Given the description of an element on the screen output the (x, y) to click on. 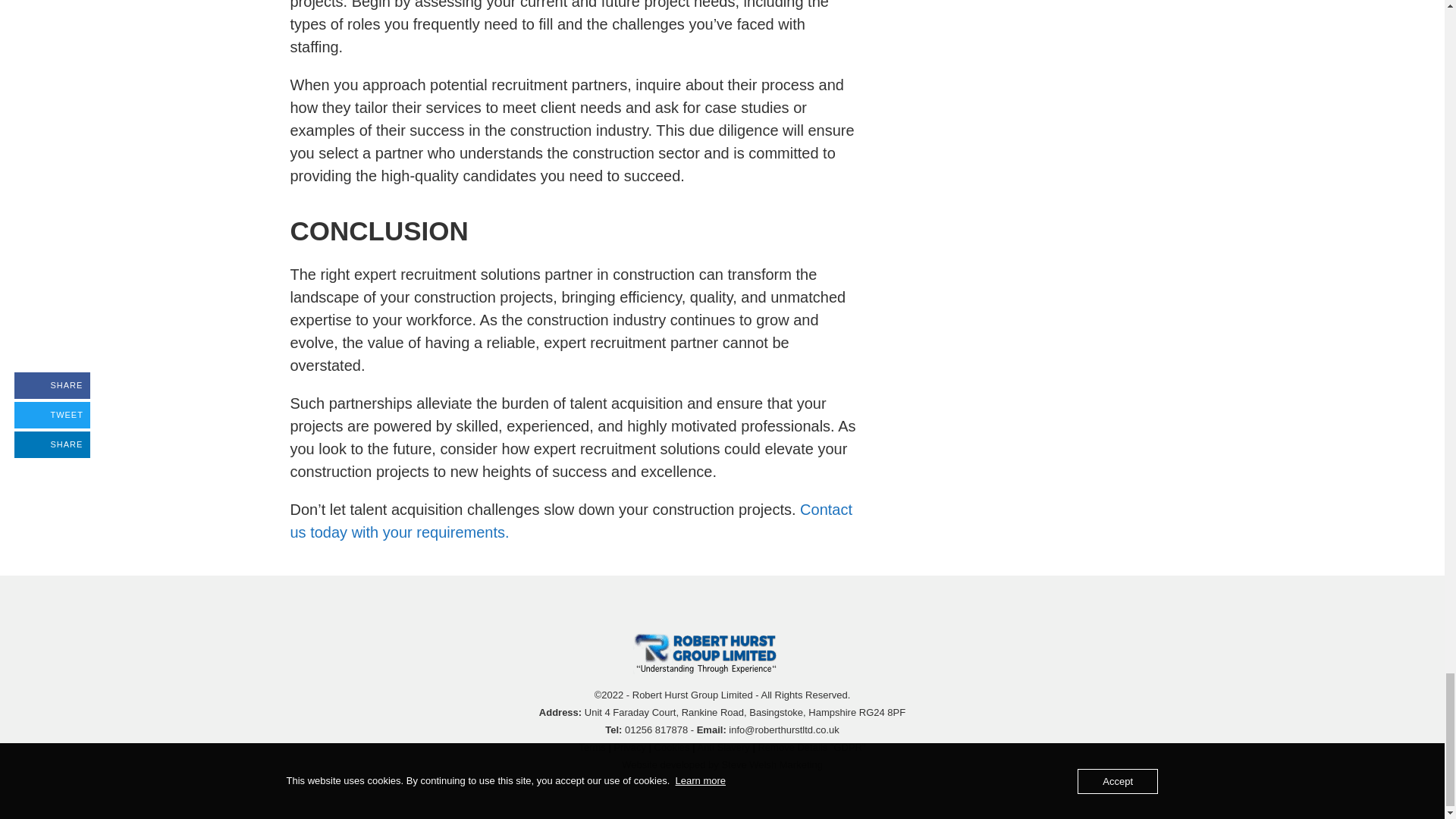
Robert Hurst Group Ltd. (716, 652)
Contact us today with your requirements. (570, 520)
